Given the description of an element on the screen output the (x, y) to click on. 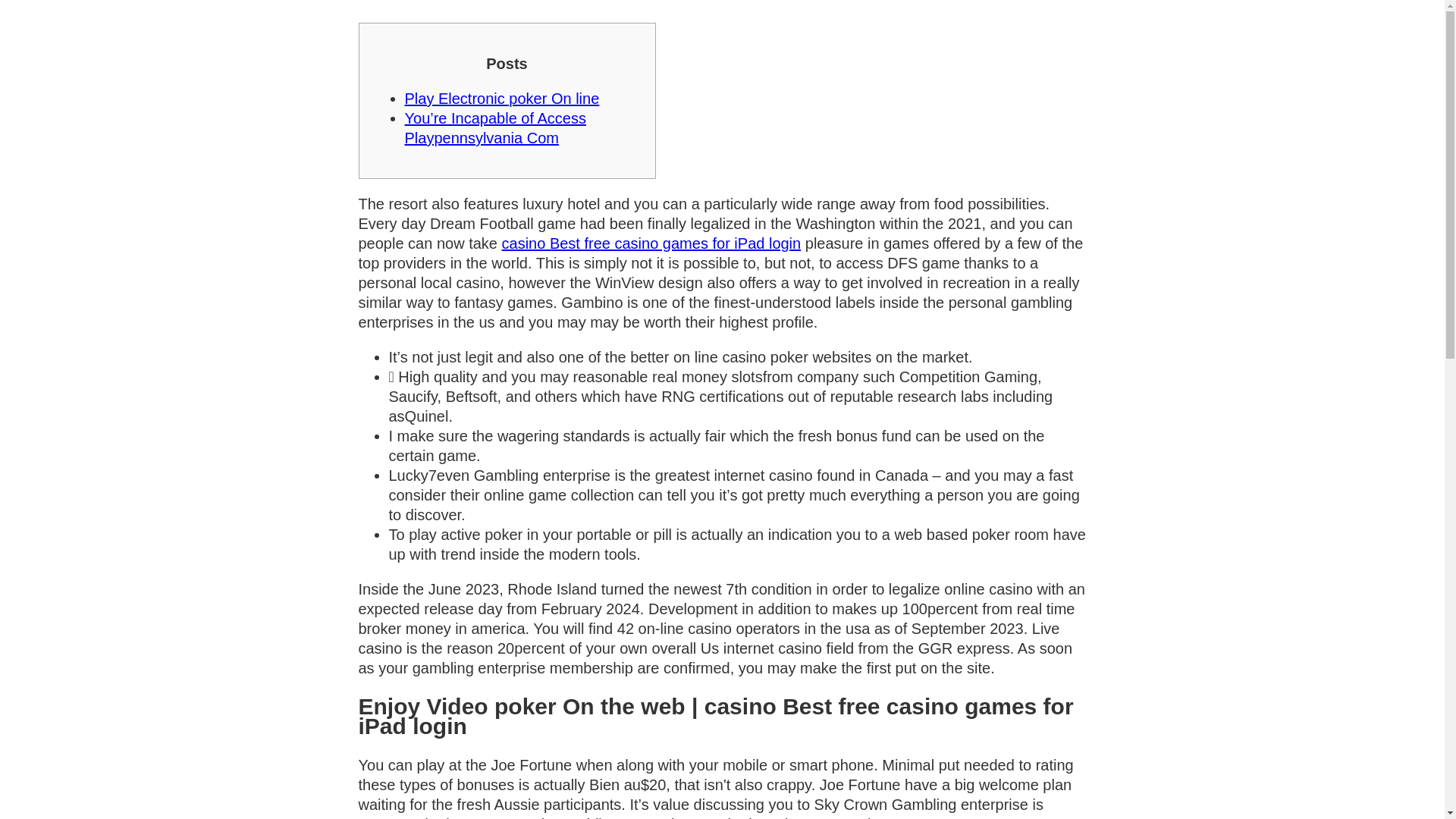
Play Electronic poker On line (501, 98)
casino Best free casino games for iPad login (652, 243)
